Given the description of an element on the screen output the (x, y) to click on. 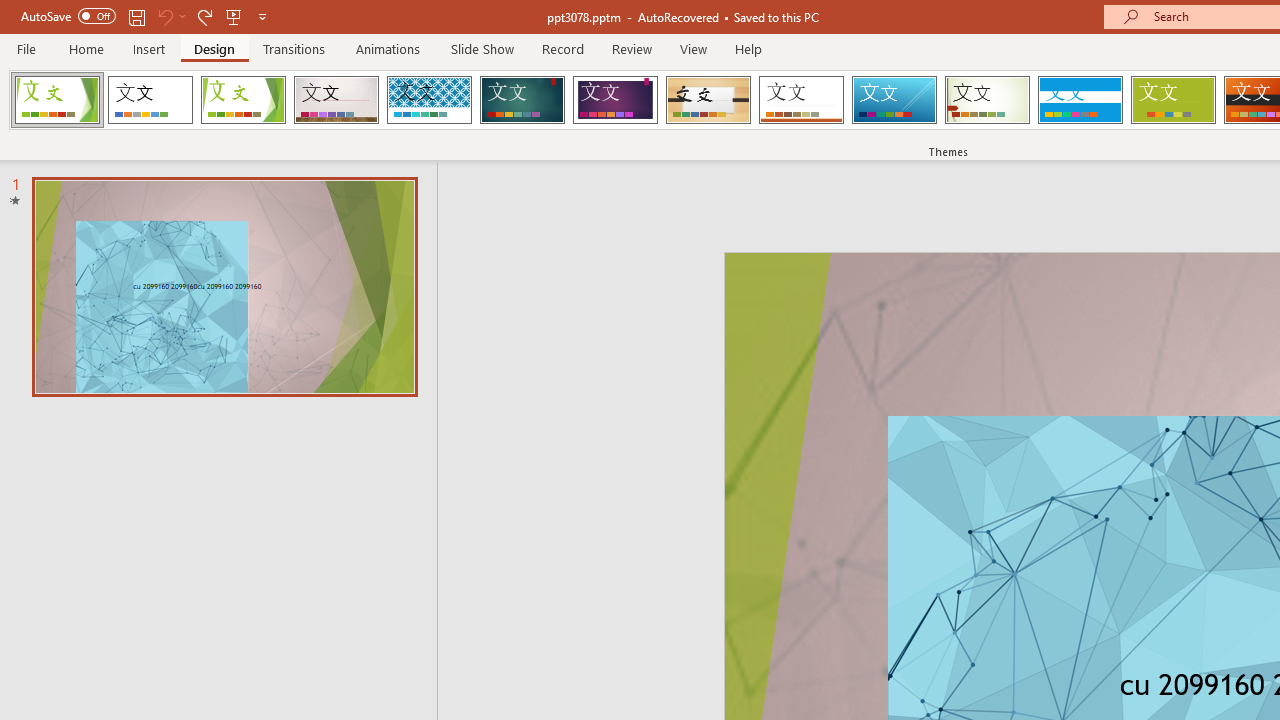
Facet (243, 100)
Banded Loading Preview... (1080, 100)
